Given the description of an element on the screen output the (x, y) to click on. 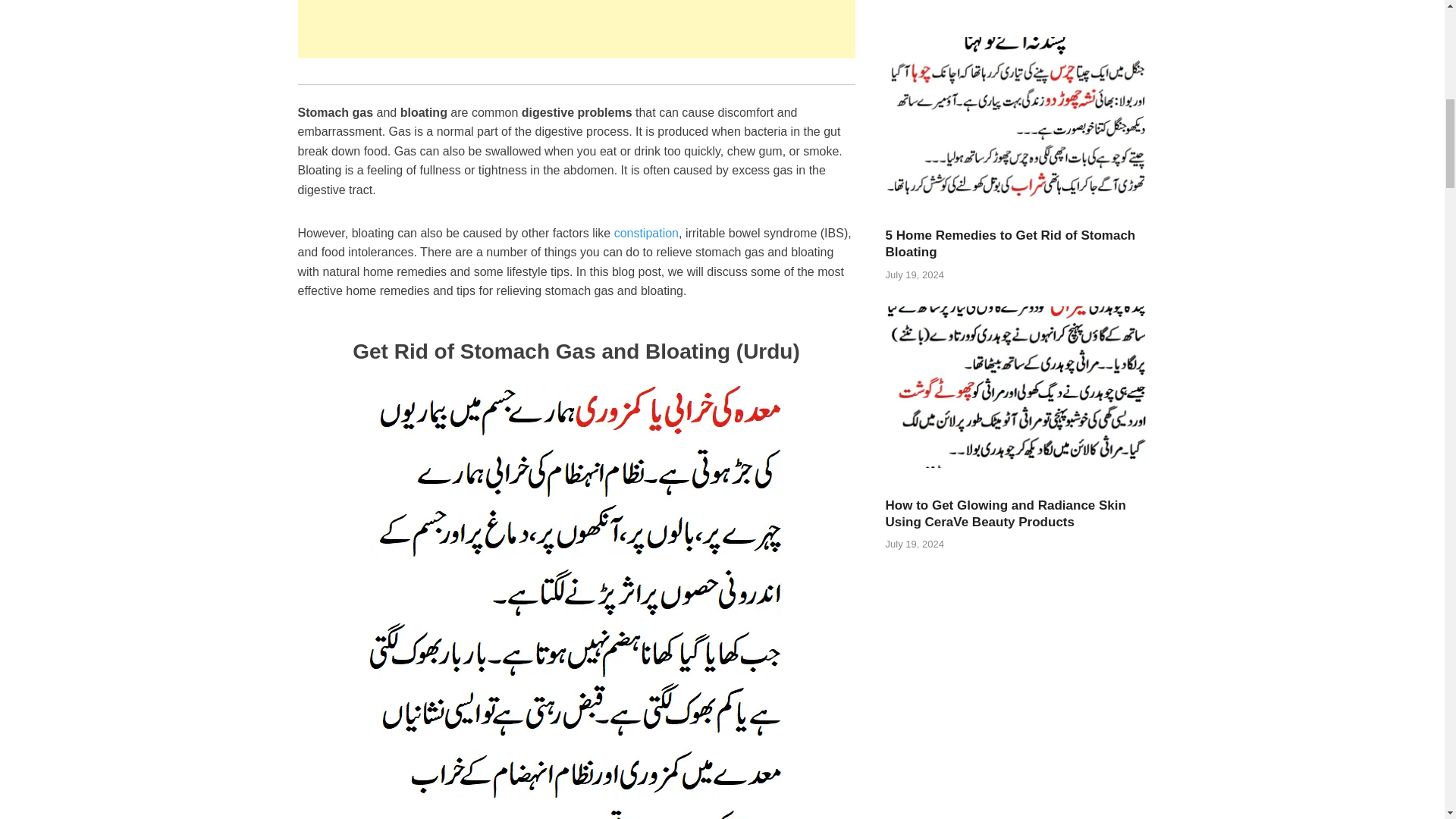
constipation (646, 232)
Advertisement (575, 29)
5 Home Remedies to Get Rid of Stomach Bloating (1016, 202)
